Given the description of an element on the screen output the (x, y) to click on. 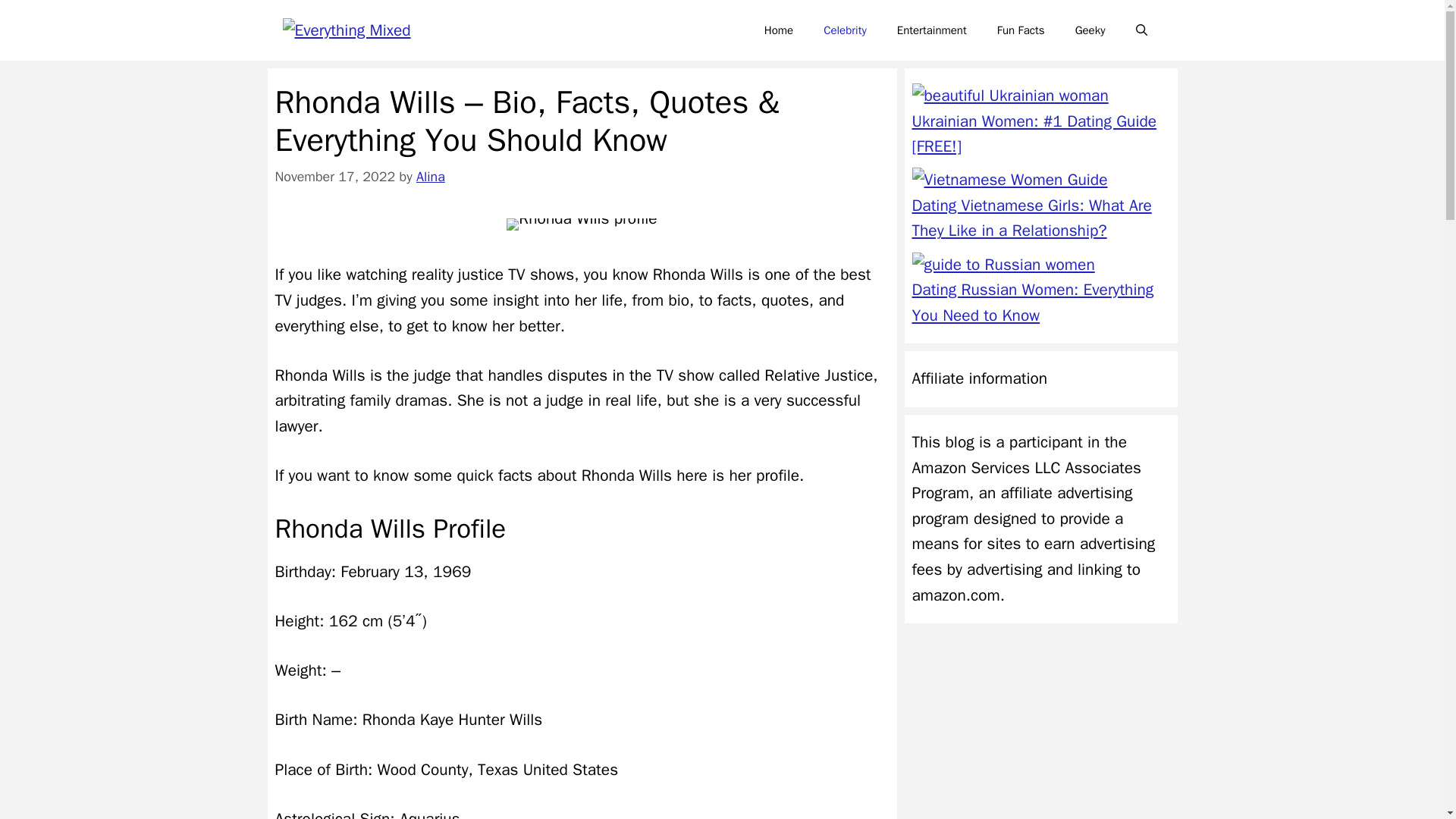
Alina (430, 176)
Home (778, 30)
Entertainment (931, 30)
Geeky (1090, 30)
Fun Facts (1020, 30)
View all posts by Alina (430, 176)
Celebrity (845, 30)
Dating Russian Women: Everything You Need to Know (1032, 302)
